Given the description of an element on the screen output the (x, y) to click on. 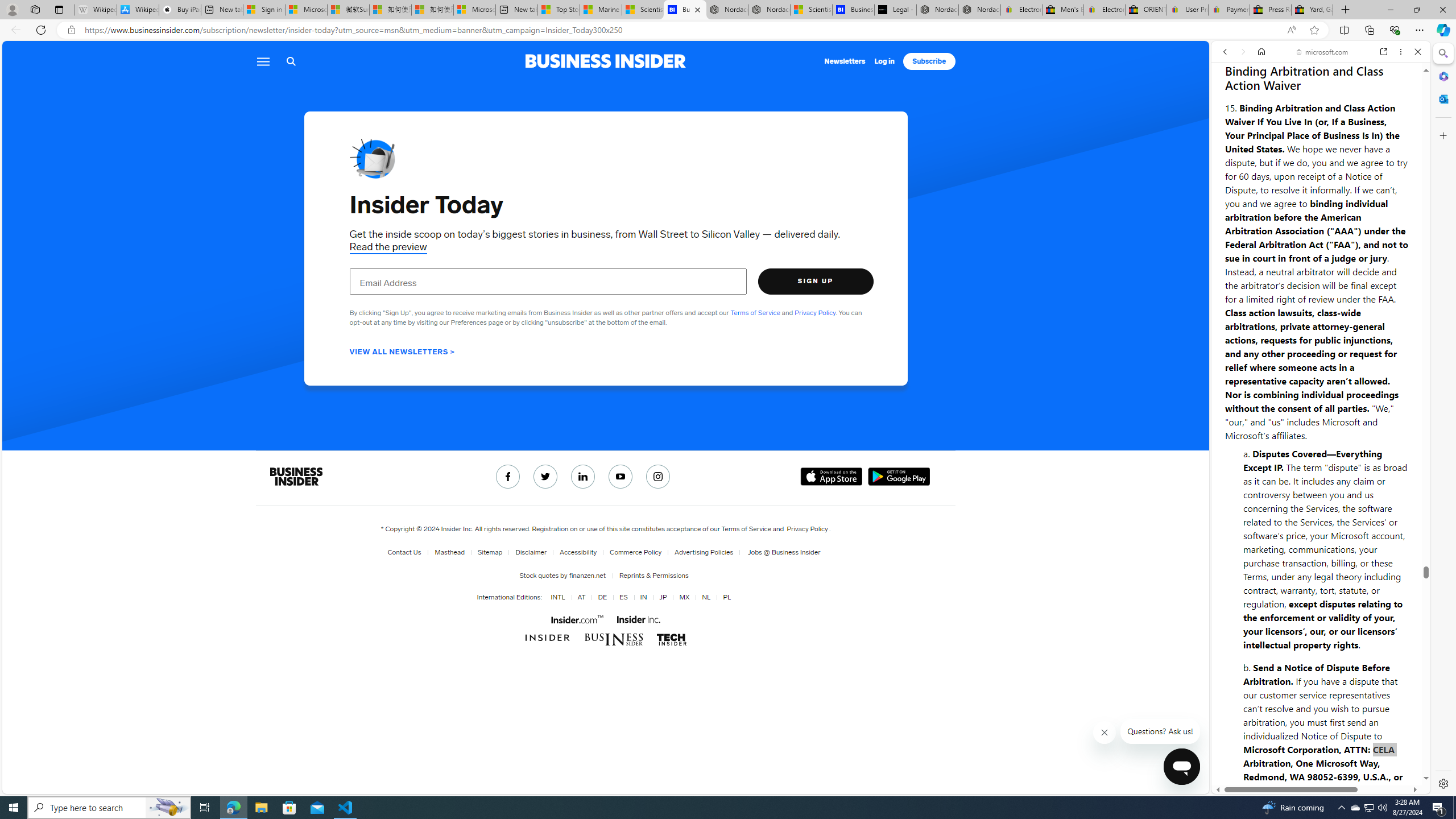
NL (704, 597)
Class: sc-1uf0igr-1 fjHZYk (1104, 732)
Contact Us (406, 552)
Open in New Tab (1321, 768)
Commerce Policy (632, 552)
Click to visit us on Facebook (507, 476)
Terms of Service (745, 528)
Search icon (290, 61)
Class: sc-1k07fow-1 cbnSms (1181, 766)
